Given the description of an element on the screen output the (x, y) to click on. 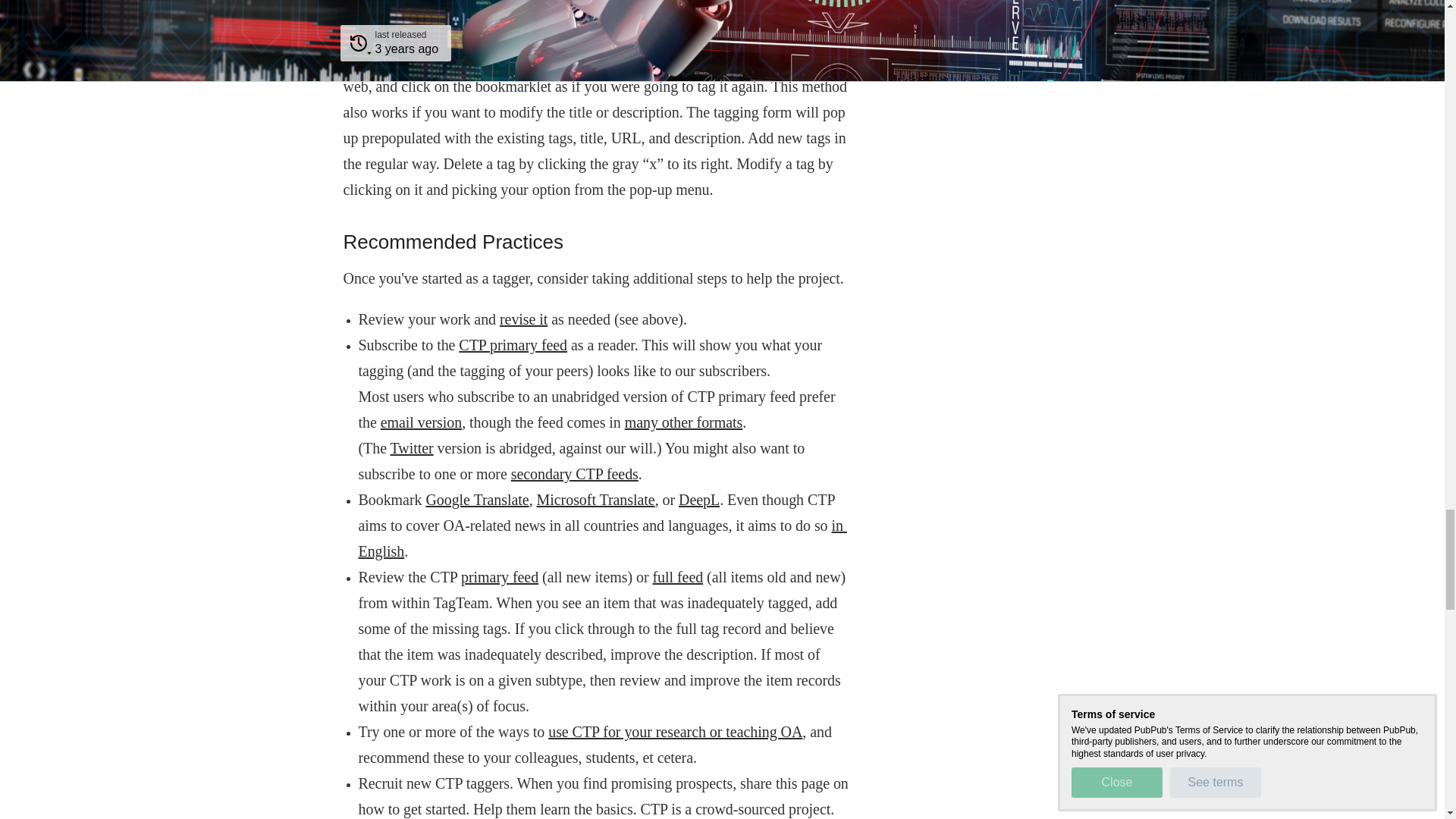
OATP feeds (512, 344)
OATP feeds (575, 474)
OATP feeds (683, 422)
Use OATP for research on OA (675, 731)
OATP conventions (601, 537)
